Given the description of an element on the screen output the (x, y) to click on. 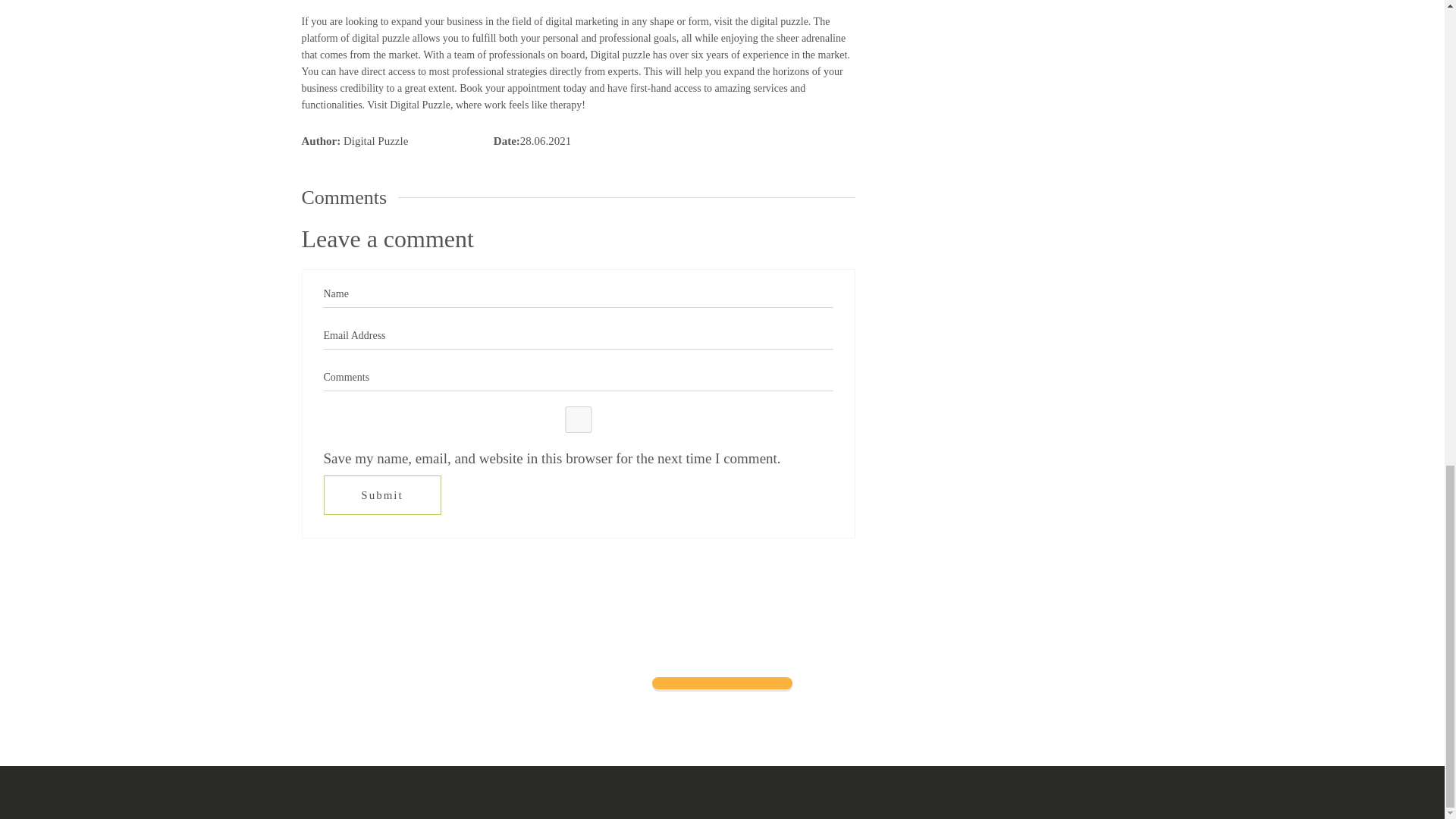
Submit (382, 495)
Submit (382, 495)
yes (577, 419)
